Given the description of an element on the screen output the (x, y) to click on. 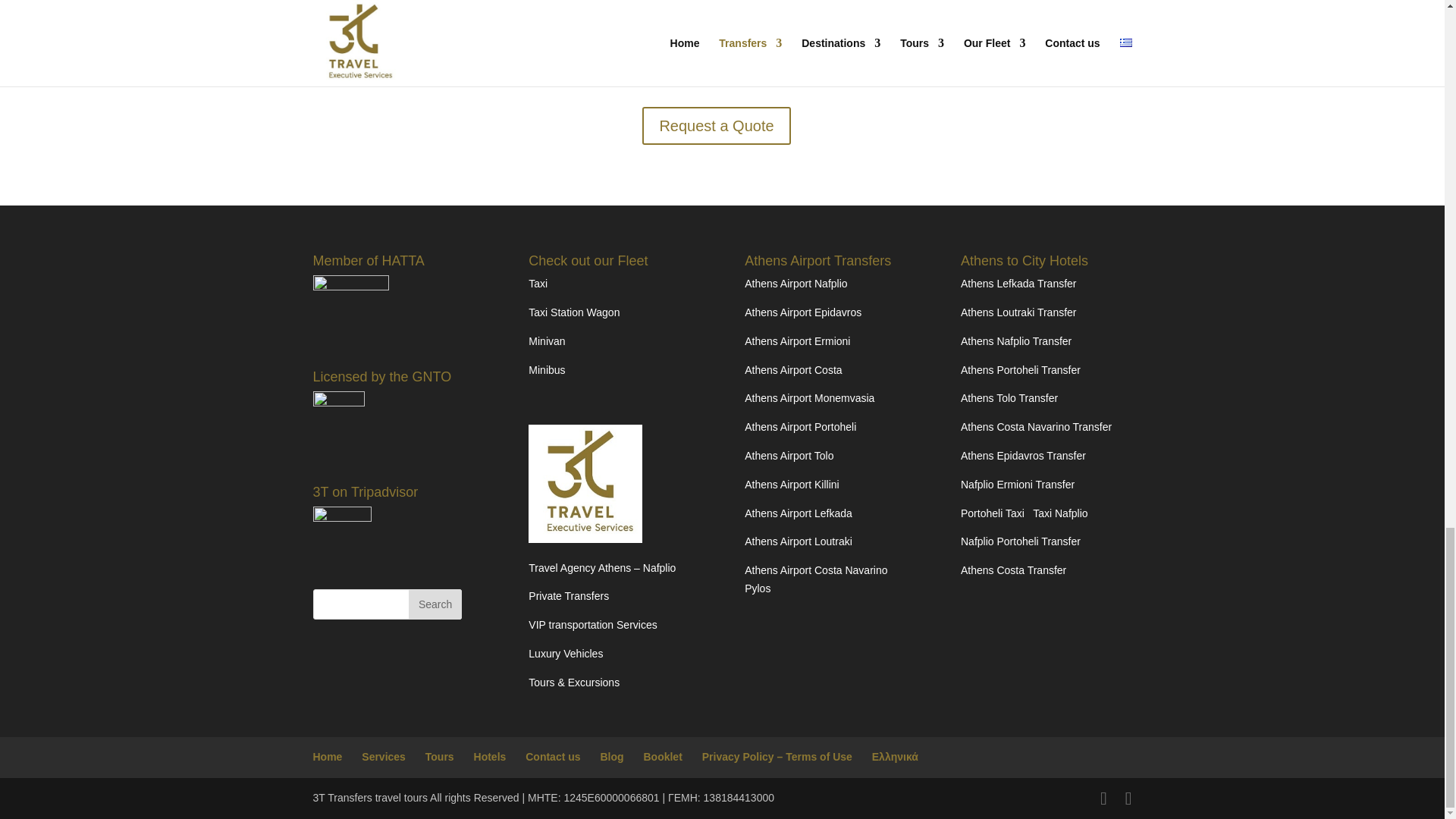
Search (435, 603)
